Given the description of an element on the screen output the (x, y) to click on. 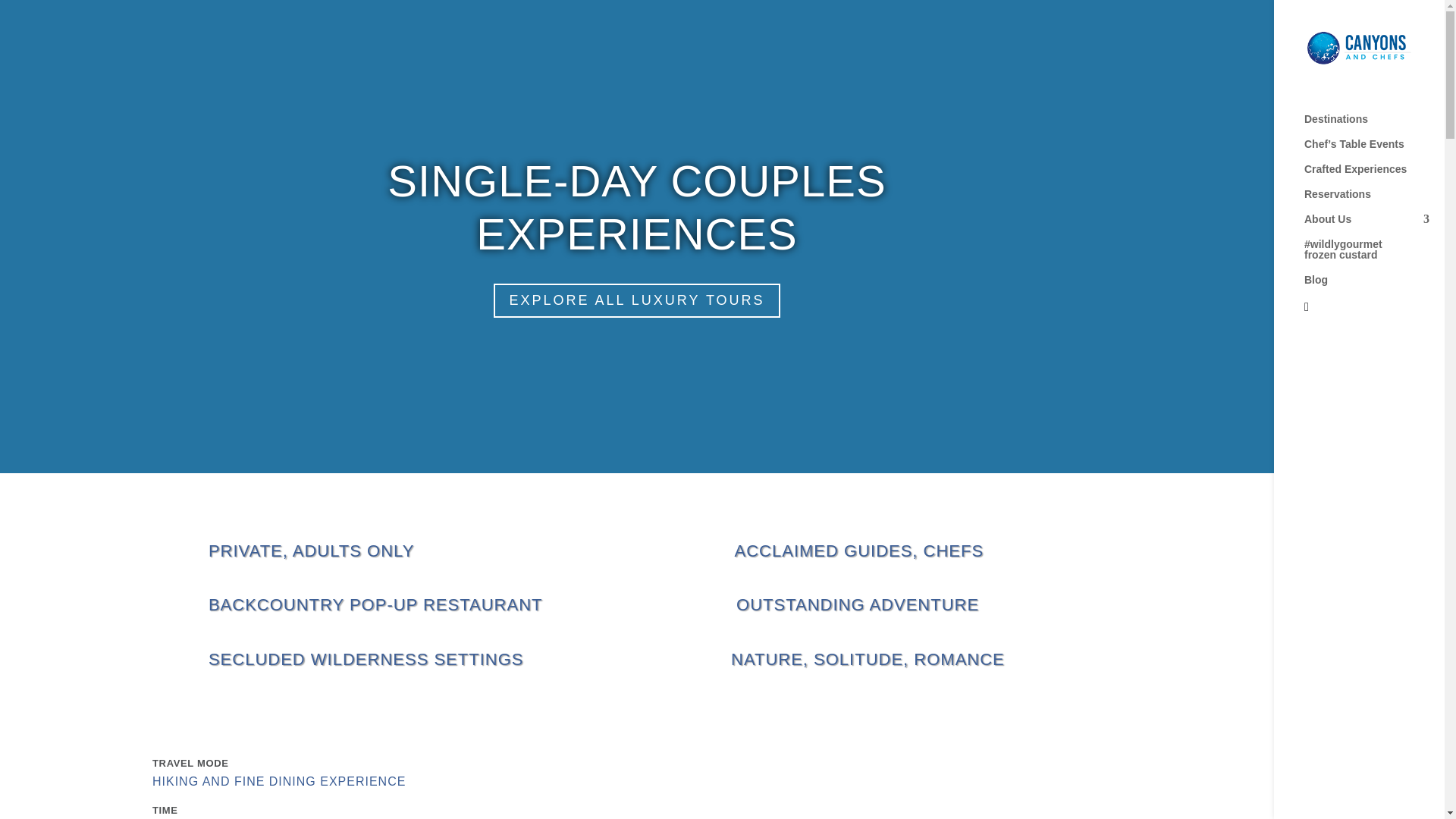
SINGLE-DAY COUPLES EXPERIENCES (636, 207)
EXPLORE ALL LUXURY TOURS (635, 300)
